Given the description of an element on the screen output the (x, y) to click on. 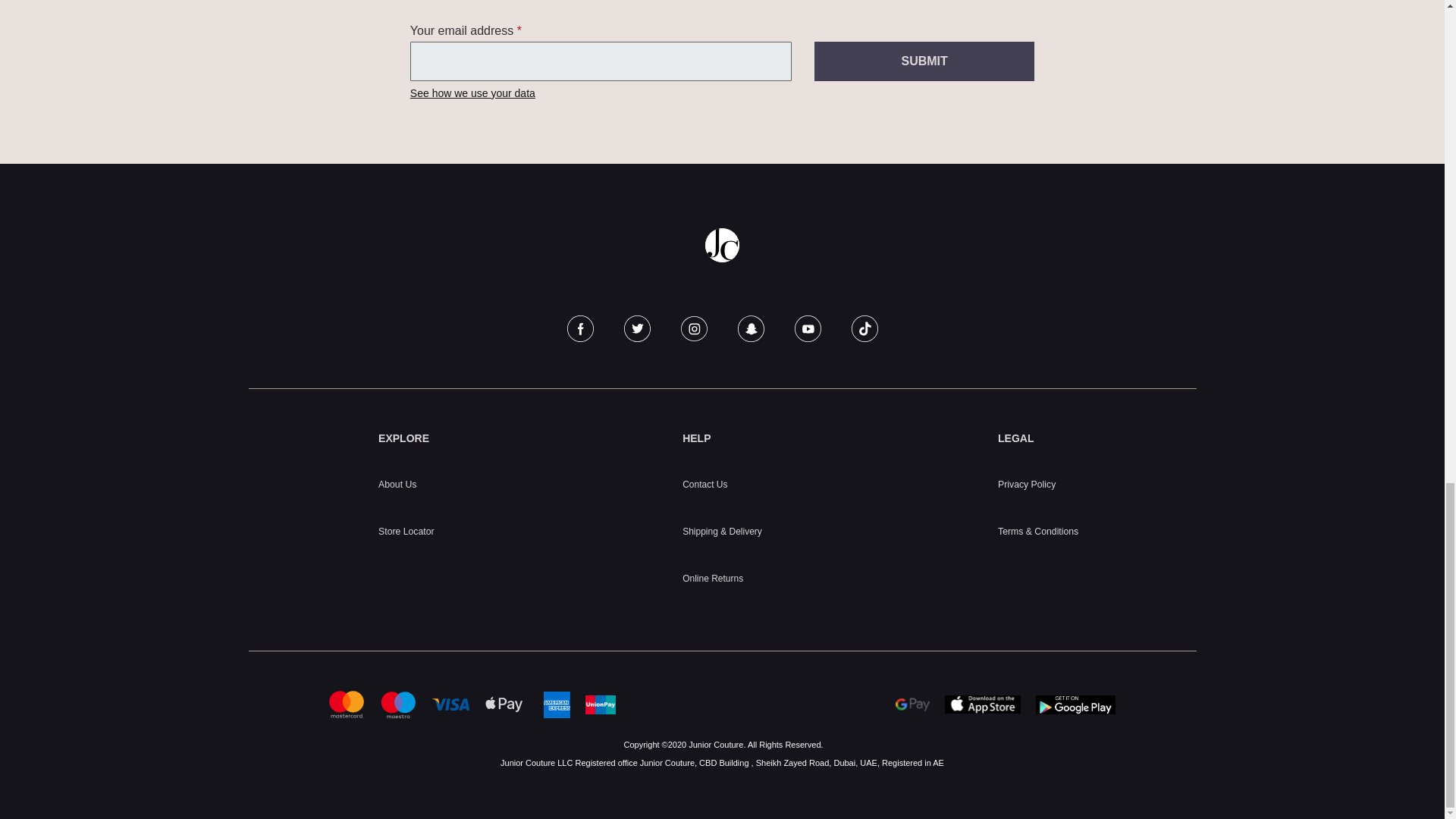
Juniour Couture Home (721, 245)
Go to Contact Us (704, 484)
Go to Store Locator (405, 531)
Go to About Us (397, 484)
